Given the description of an element on the screen output the (x, y) to click on. 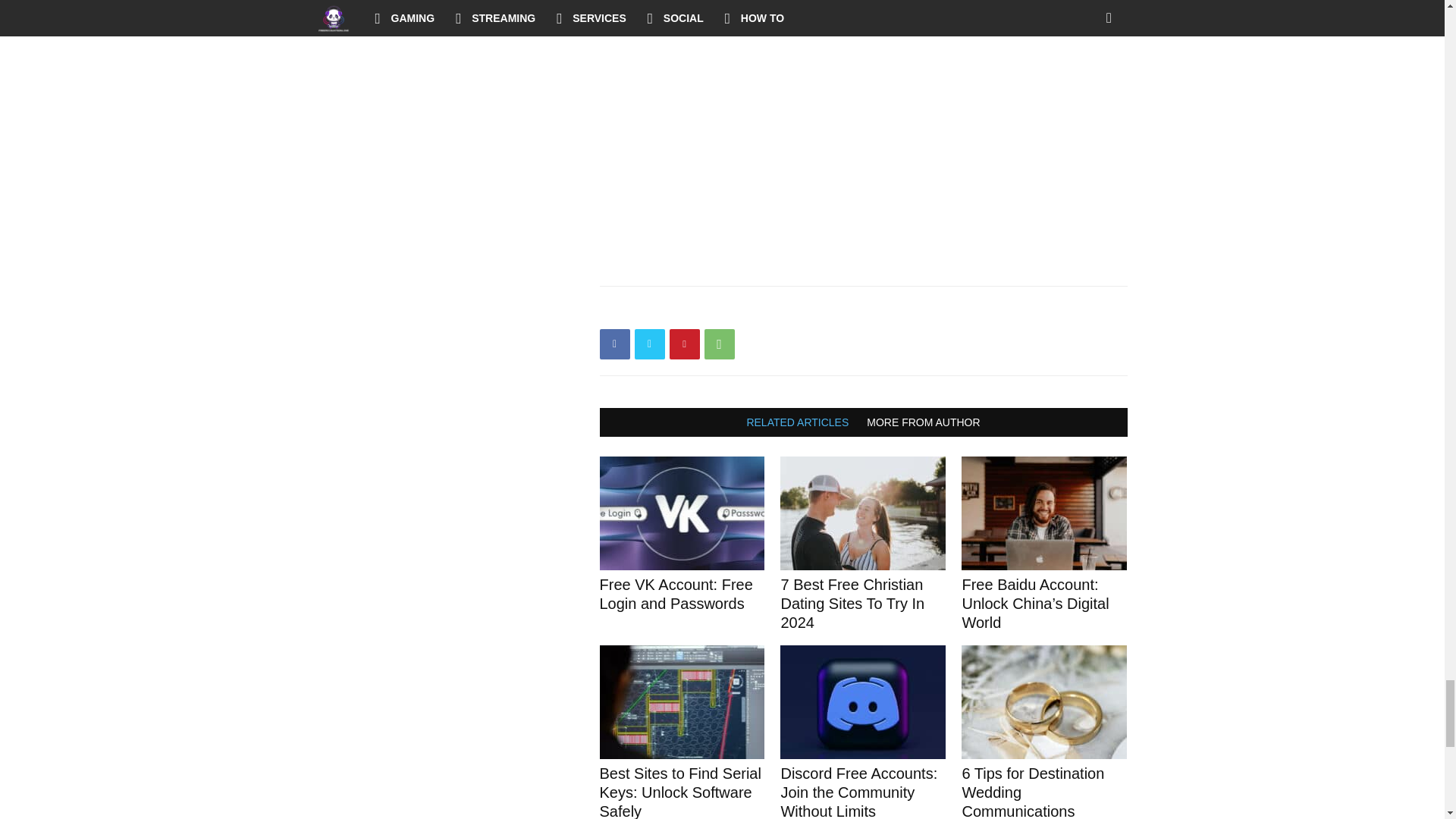
Facebook (613, 344)
Pinterest (683, 344)
Free VK Account: Free Login and Passwords (681, 513)
WhatsApp (718, 344)
bottomFacebookLike (712, 310)
Twitter (648, 344)
